Given the description of an element on the screen output the (x, y) to click on. 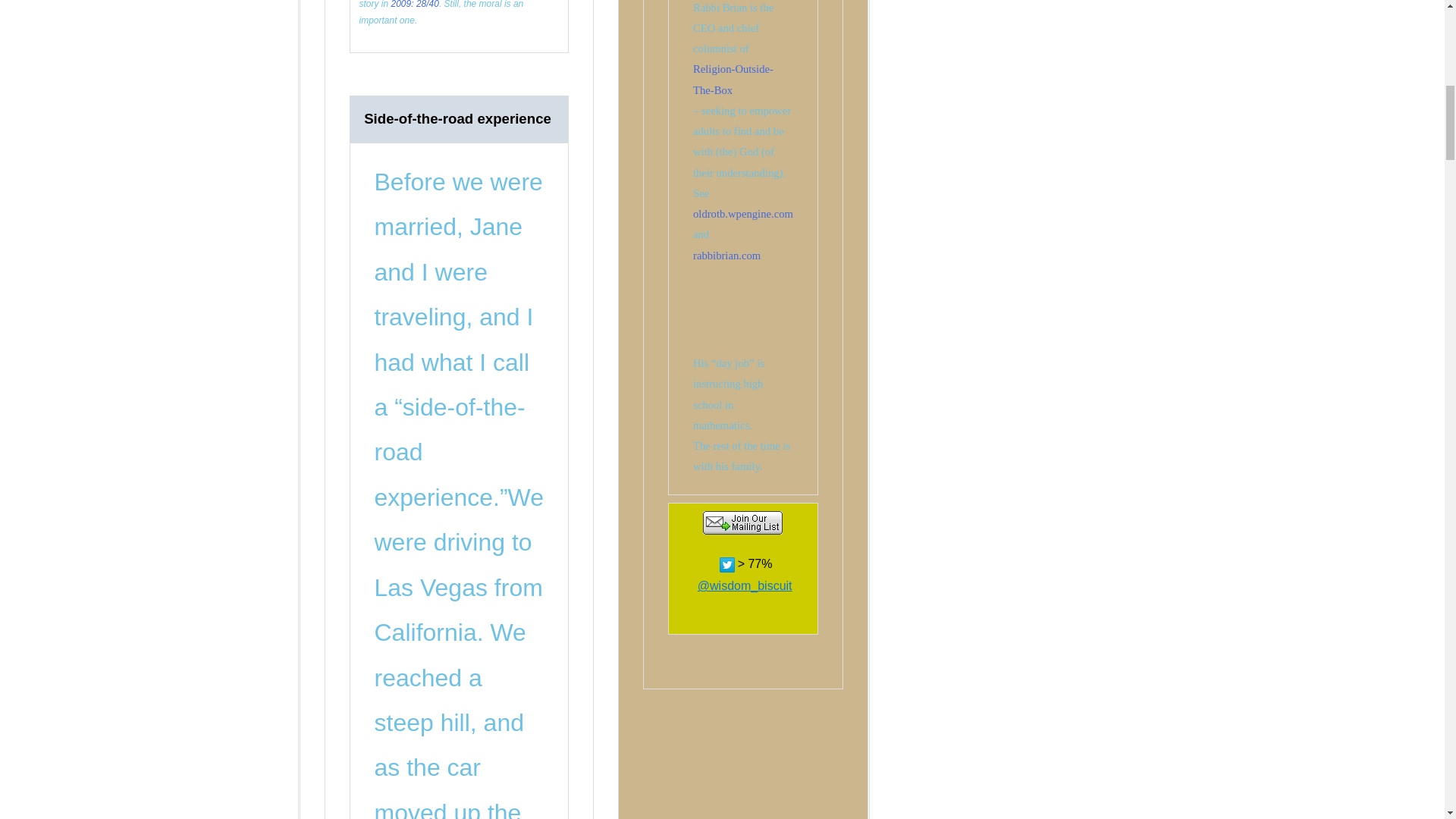
Religion-Outside-The-Box  (733, 79)
oldrotb.wpengine.com (743, 214)
rabbibrian.com (726, 254)
